Given the description of an element on the screen output the (x, y) to click on. 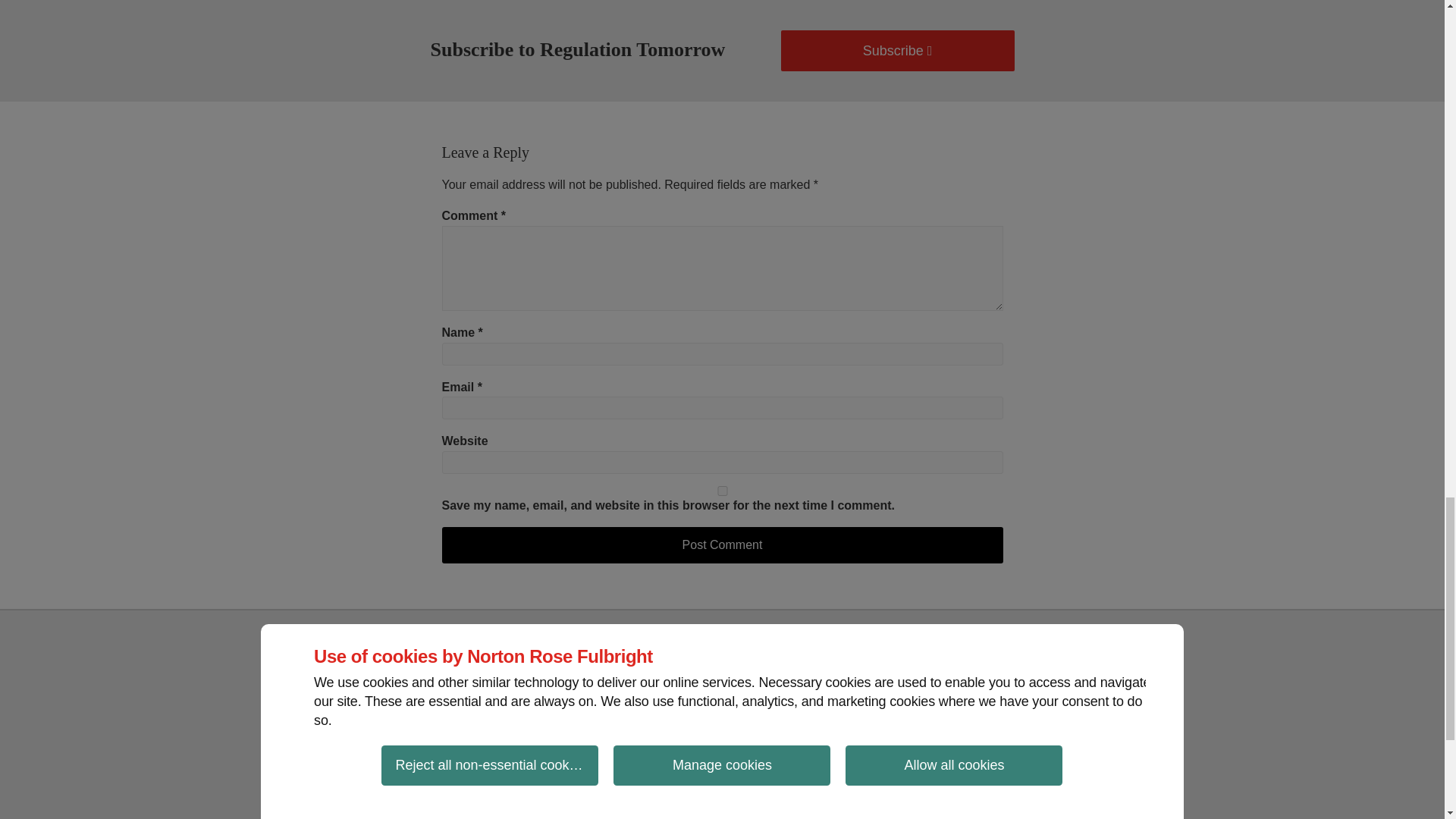
Post Comment (722, 545)
yes (722, 491)
